Given the description of an element on the screen output the (x, y) to click on. 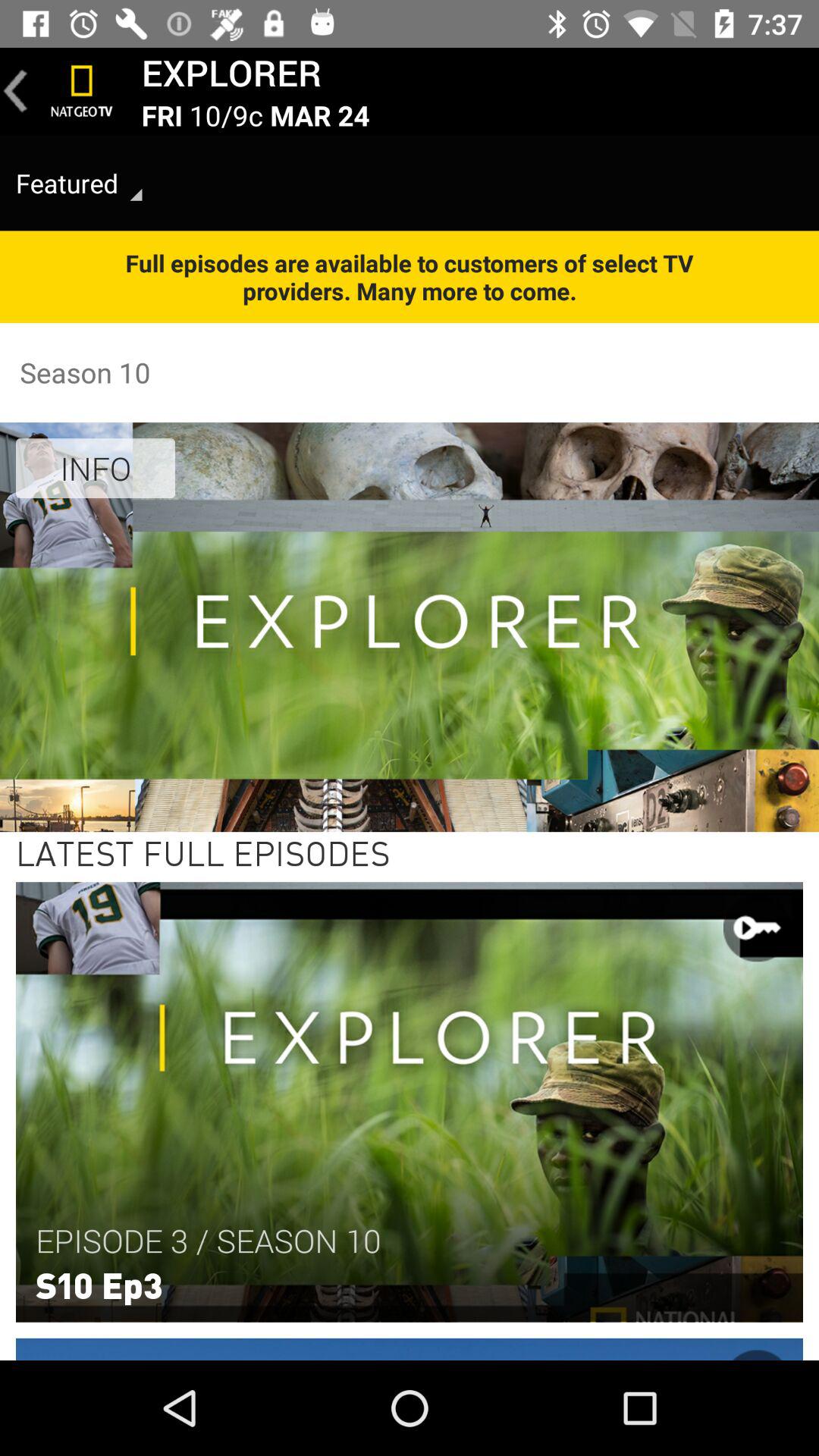
flip until the s10 ep3 item (98, 1284)
